Given the description of an element on the screen output the (x, y) to click on. 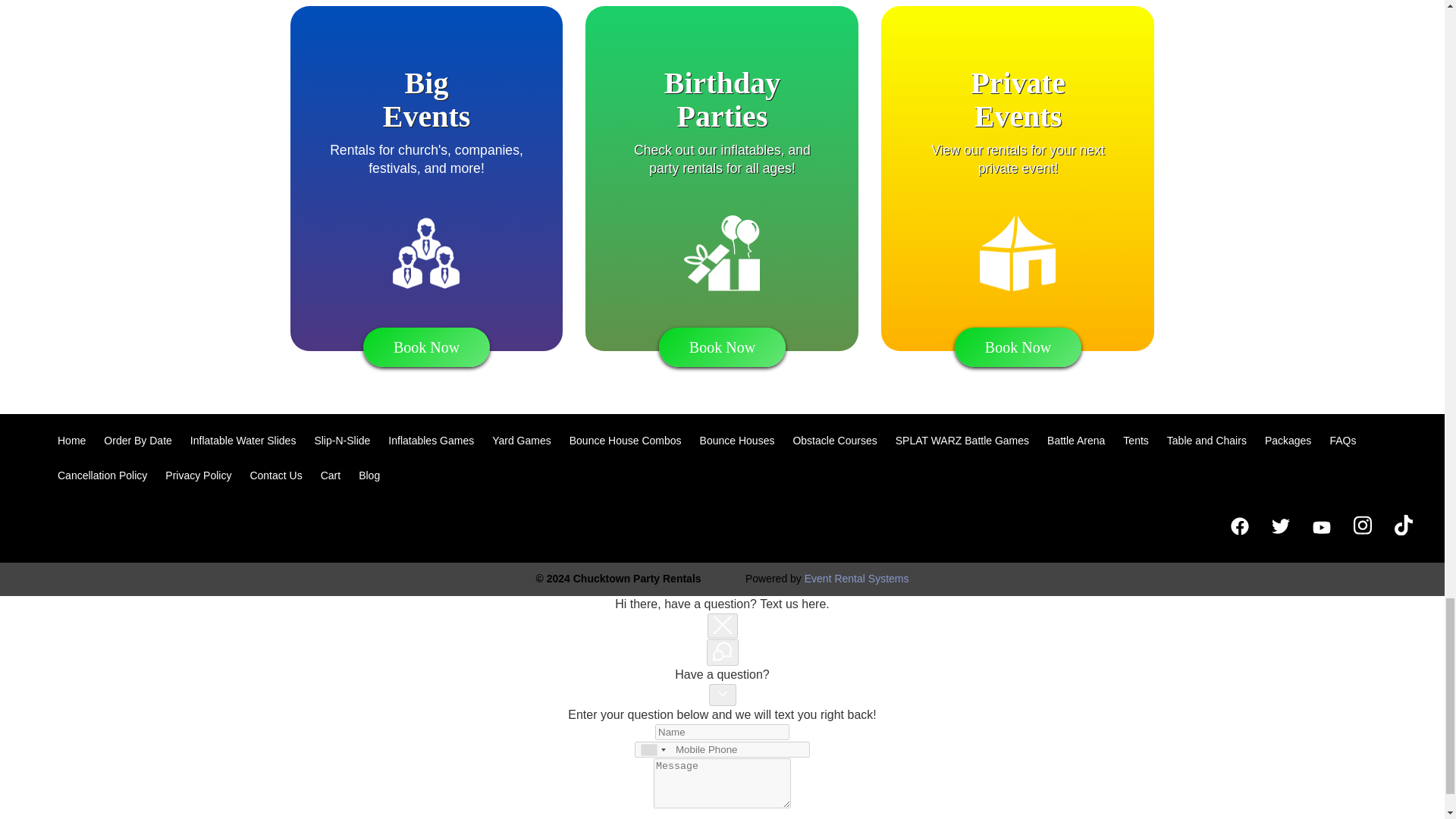
Order By Date (137, 440)
Book Now (722, 346)
Home (71, 440)
Chucktown Party Rentals Facebook (1239, 525)
Book Now (1018, 346)
Book Now (425, 346)
